Given the description of an element on the screen output the (x, y) to click on. 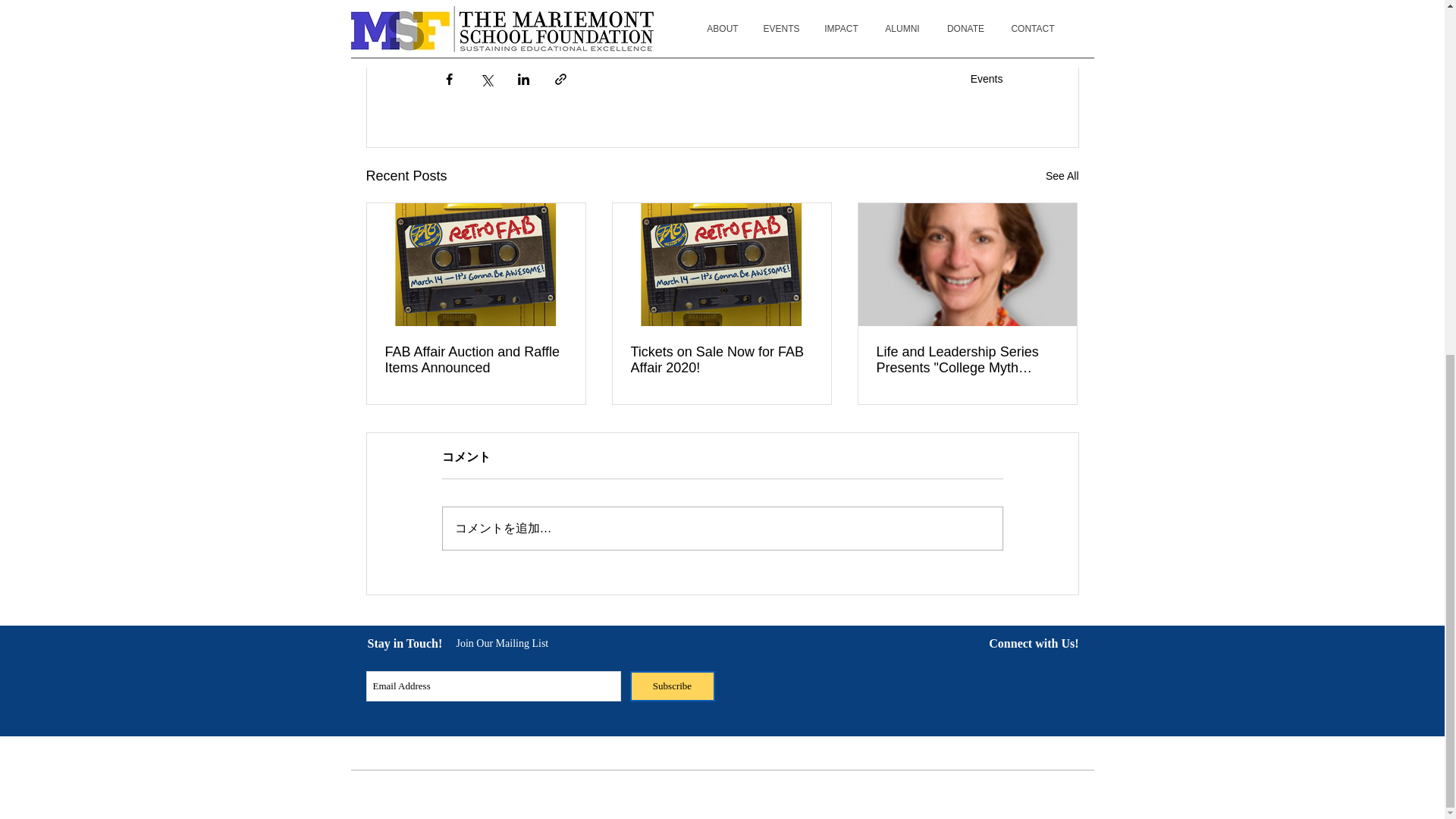
FAB Affair Auction and Raffle Items Announced (476, 359)
See All (1061, 176)
Tickets on Sale Now for FAB Affair 2020! (721, 359)
Events (987, 78)
